Given the description of an element on the screen output the (x, y) to click on. 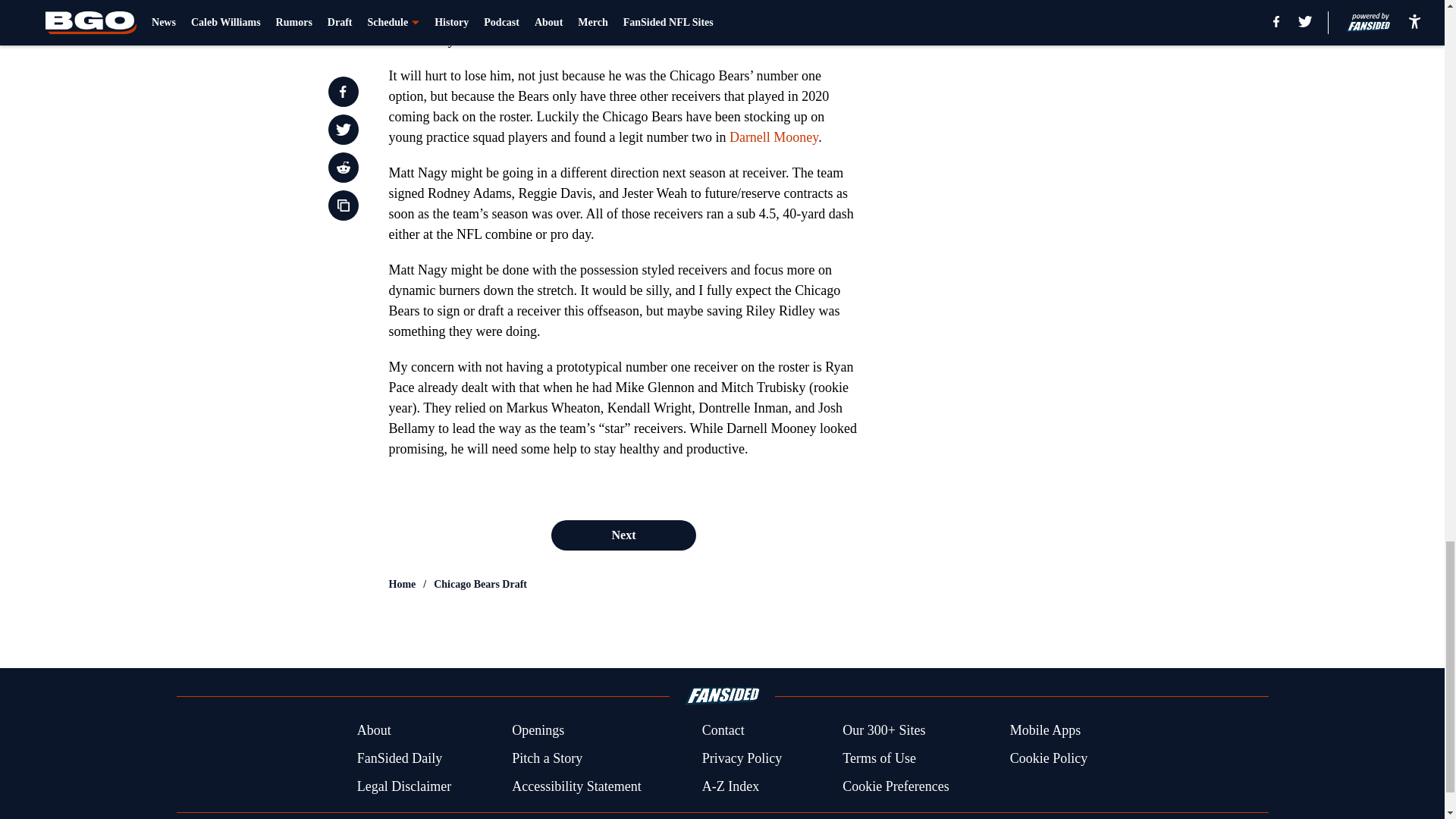
Home (401, 584)
FanSided Daily (399, 758)
Privacy Policy (742, 758)
Contact (722, 730)
Darnell Mooney (773, 136)
Pitch a Story (547, 758)
Mobile Apps (1045, 730)
Openings (538, 730)
Chicago Bears Draft (480, 584)
About (373, 730)
Next (622, 535)
